Given the description of an element on the screen output the (x, y) to click on. 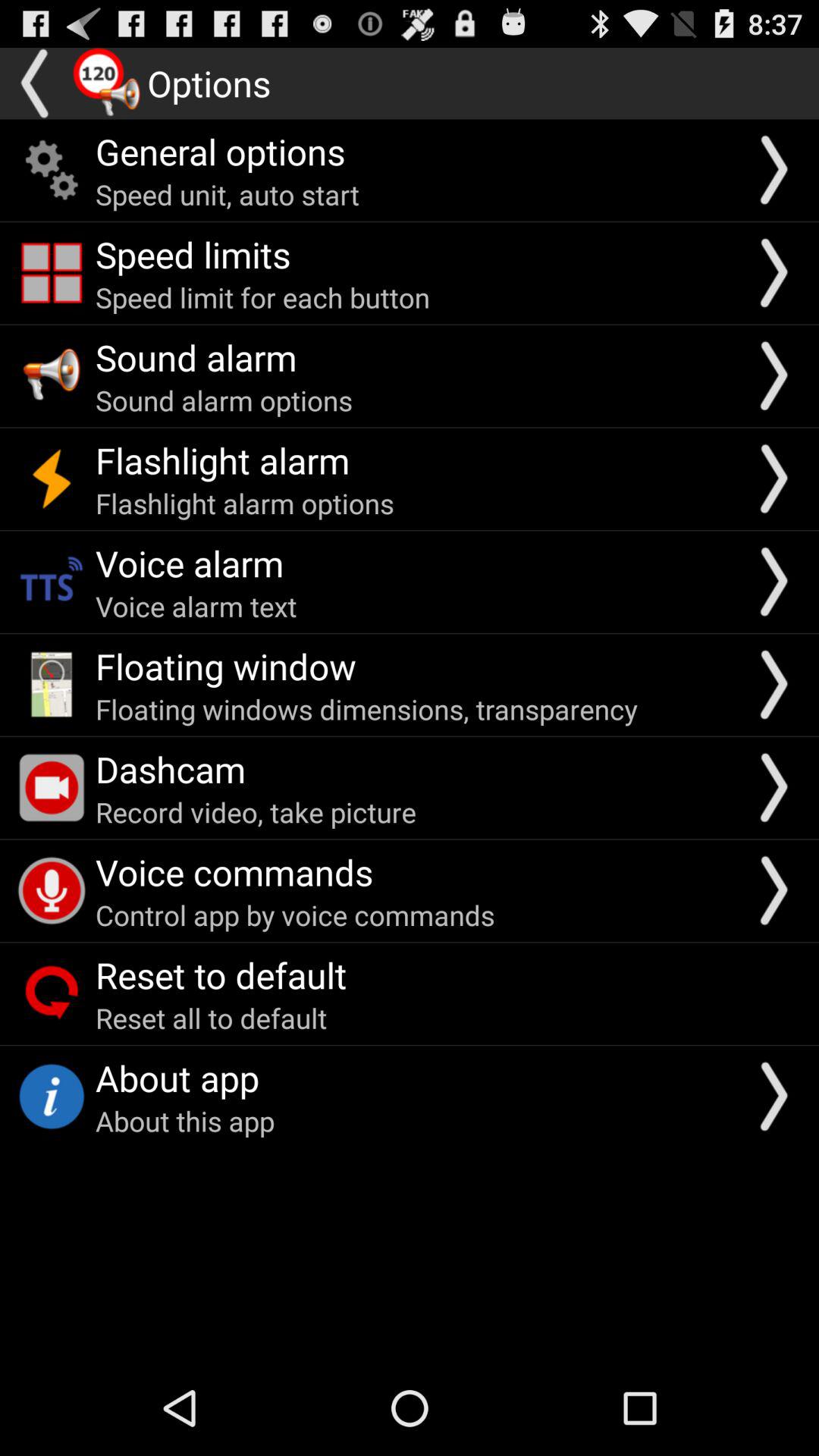
click control app by app (294, 914)
